Given the description of an element on the screen output the (x, y) to click on. 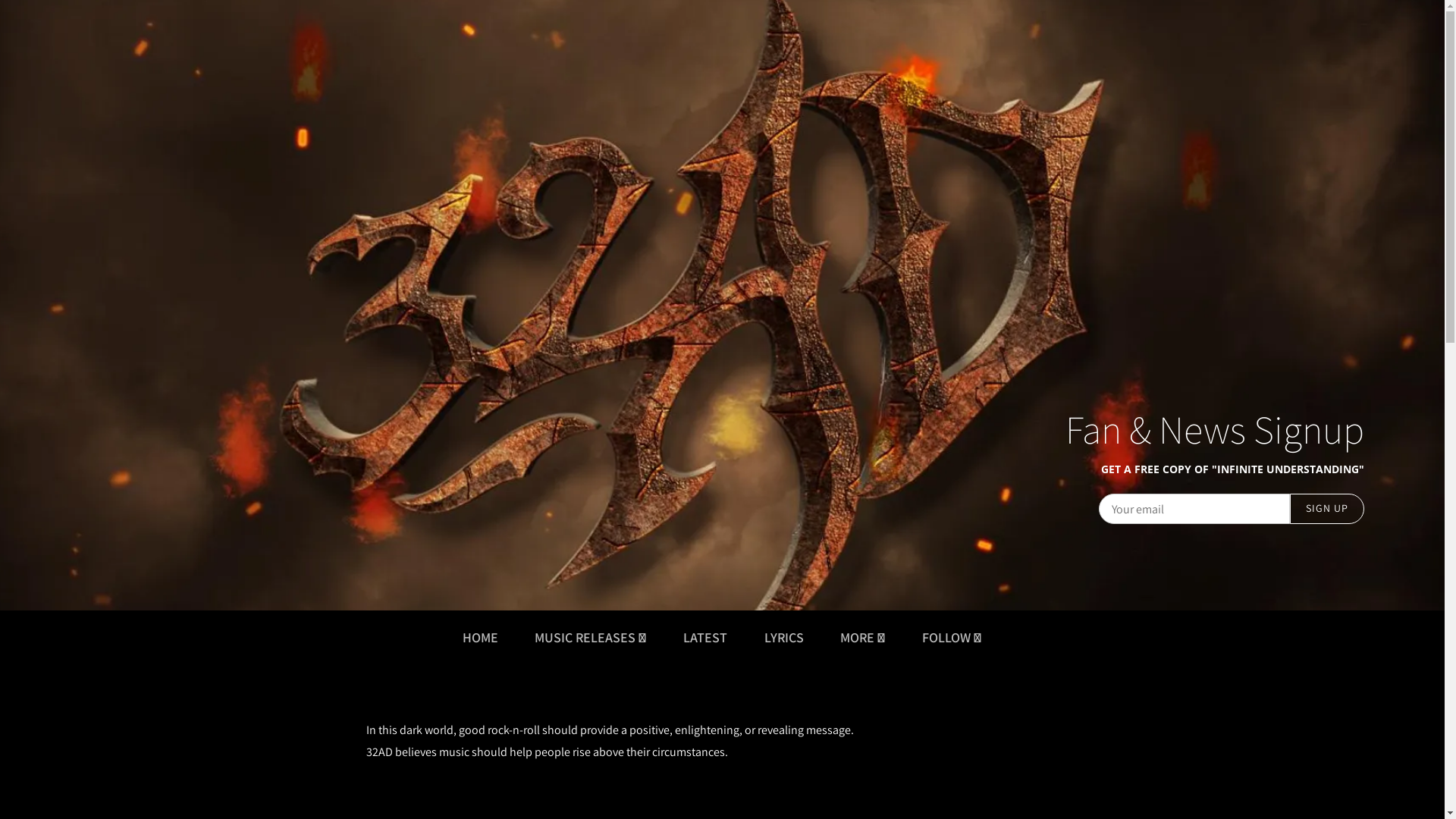
SIGN UP Element type: text (1326, 508)
LATEST Element type: text (705, 637)
LYRICS Element type: text (783, 637)
FOLLOW Element type: text (952, 637)
MORE Element type: text (862, 637)
MUSIC RELEASES Element type: text (590, 637)
HOME Element type: text (480, 637)
